Given the description of an element on the screen output the (x, y) to click on. 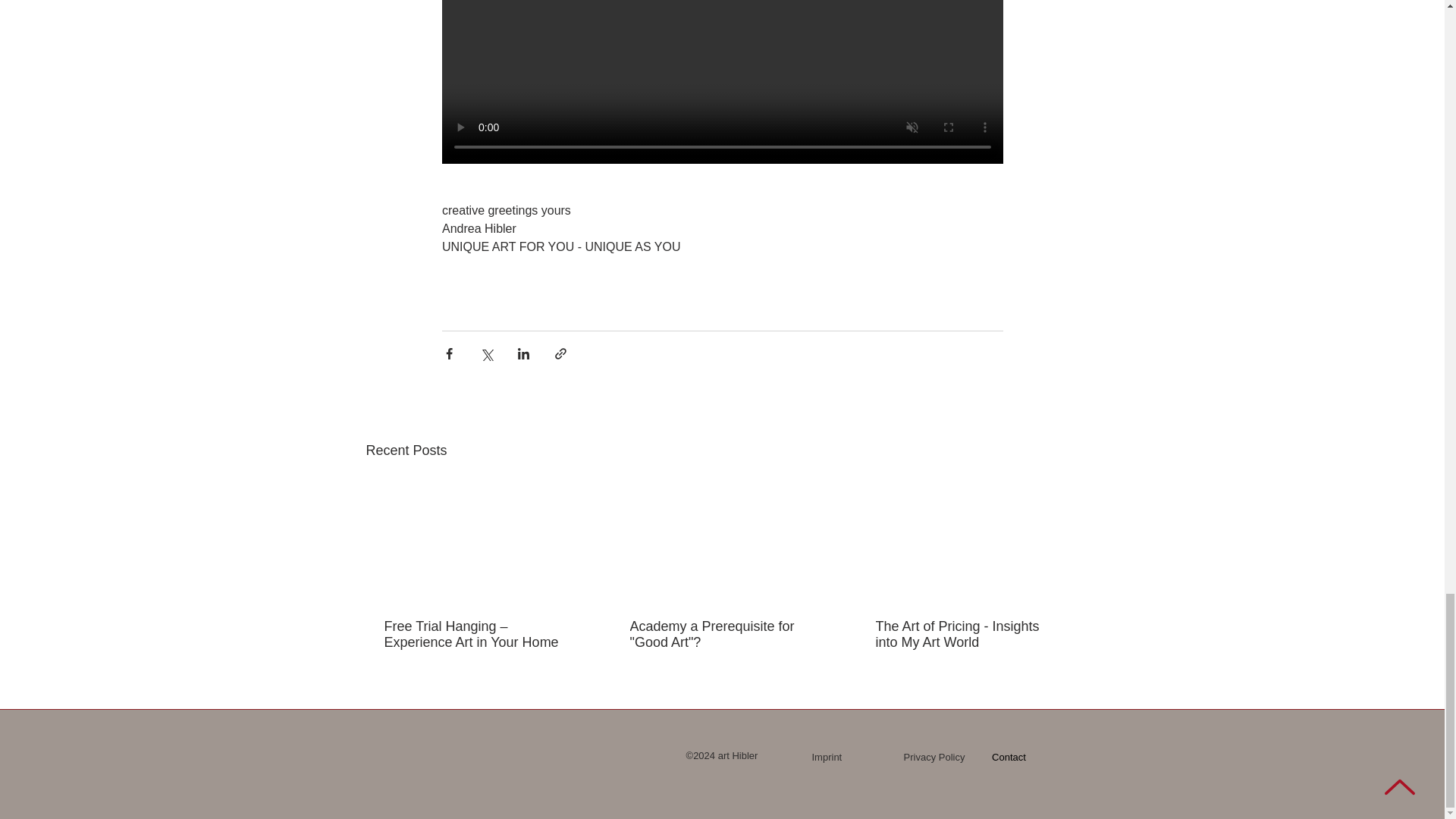
Contact (1008, 756)
Privacy Policy (934, 756)
Imprint (825, 756)
The Art of Pricing - Insights into My Art World (966, 634)
Academy a Prerequisite for "Good Art"? (720, 634)
